Given the description of an element on the screen output the (x, y) to click on. 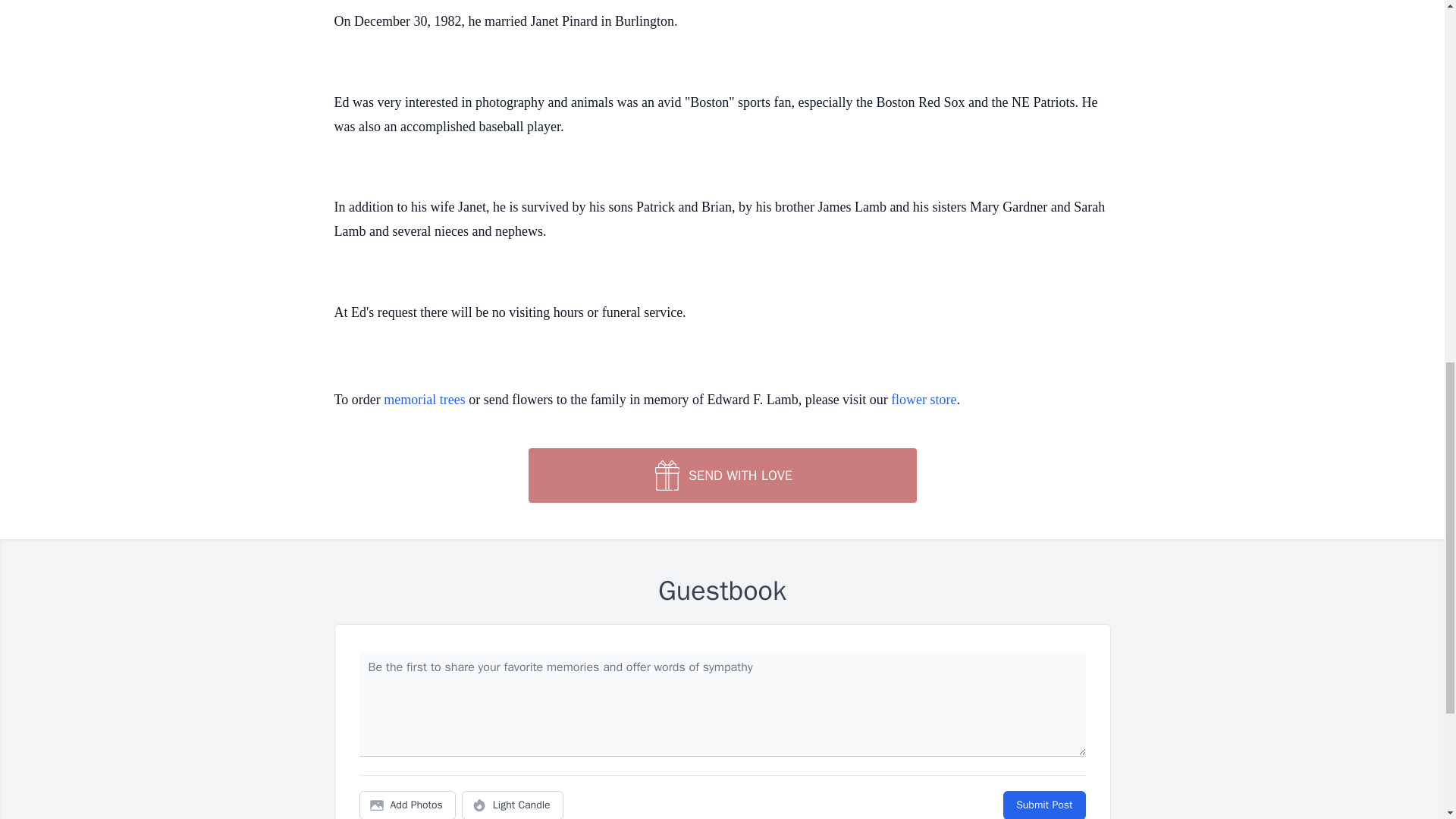
Light Candle (512, 805)
flower store (923, 399)
Submit Post (1043, 805)
Add Photos (407, 805)
SEND WITH LOVE (721, 474)
memorial trees (424, 399)
